Given the description of an element on the screen output the (x, y) to click on. 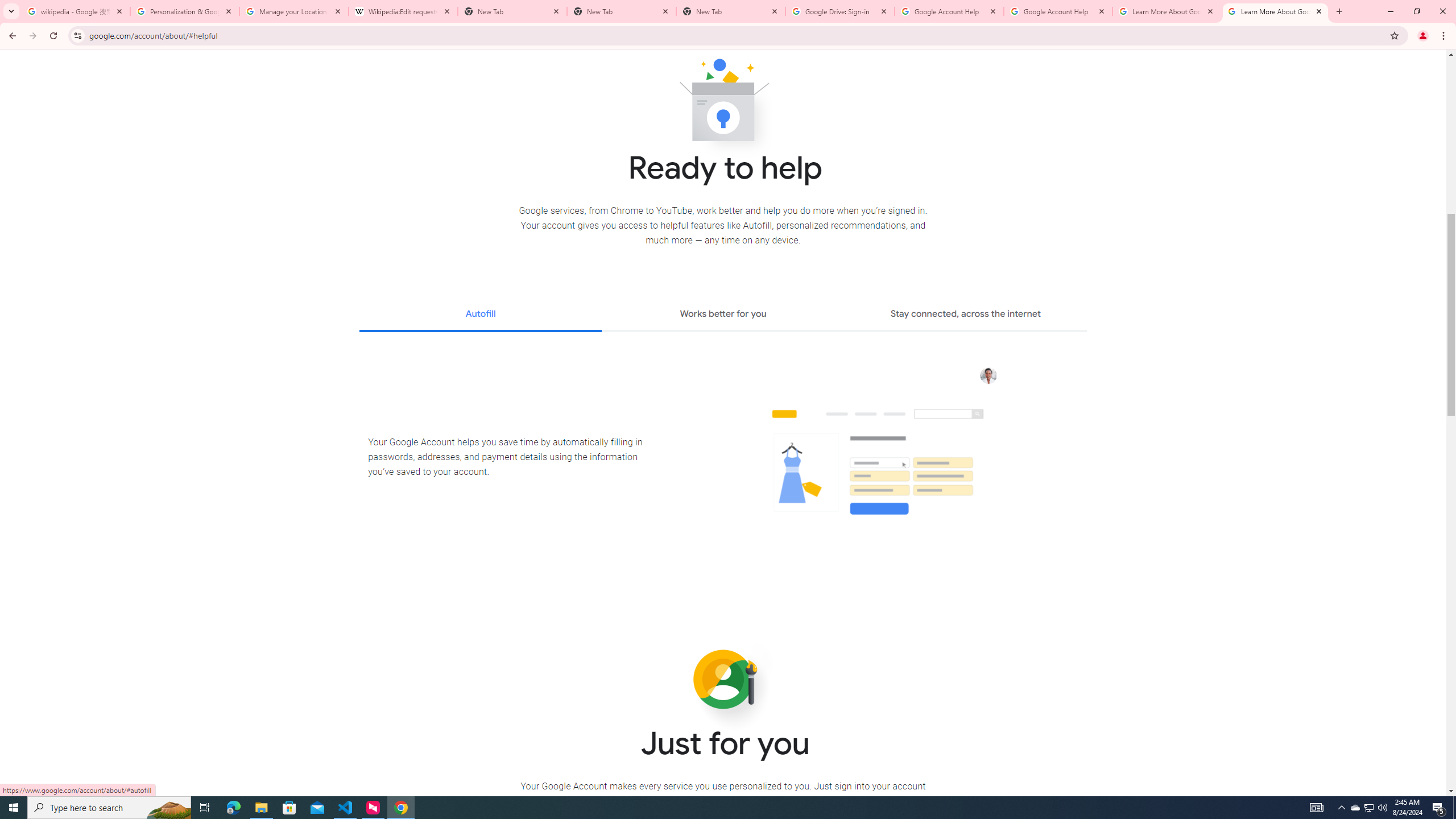
Google Drive: Sign-in (839, 11)
New Tab (730, 11)
Wikipedia:Edit requests - Wikipedia (403, 11)
Google Account Help (1058, 11)
Ready to help (722, 103)
